Given the description of an element on the screen output the (x, y) to click on. 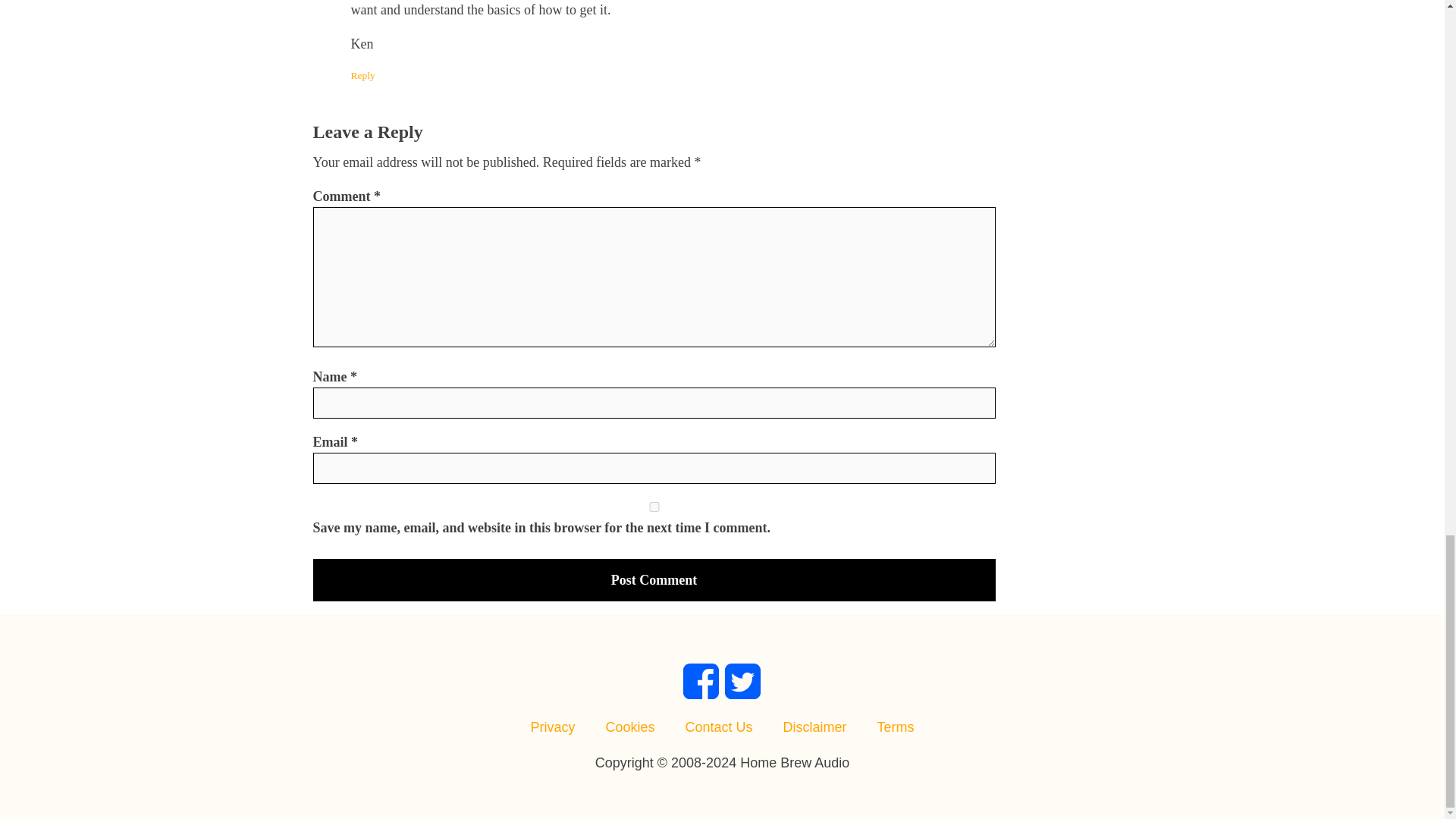
Disclaimer (814, 726)
Reply (362, 75)
Privacy (552, 726)
Terms (895, 726)
Contact Us (718, 726)
Post Comment (653, 579)
Post Comment (653, 579)
yes (653, 506)
Cookies (629, 726)
